Given the description of an element on the screen output the (x, y) to click on. 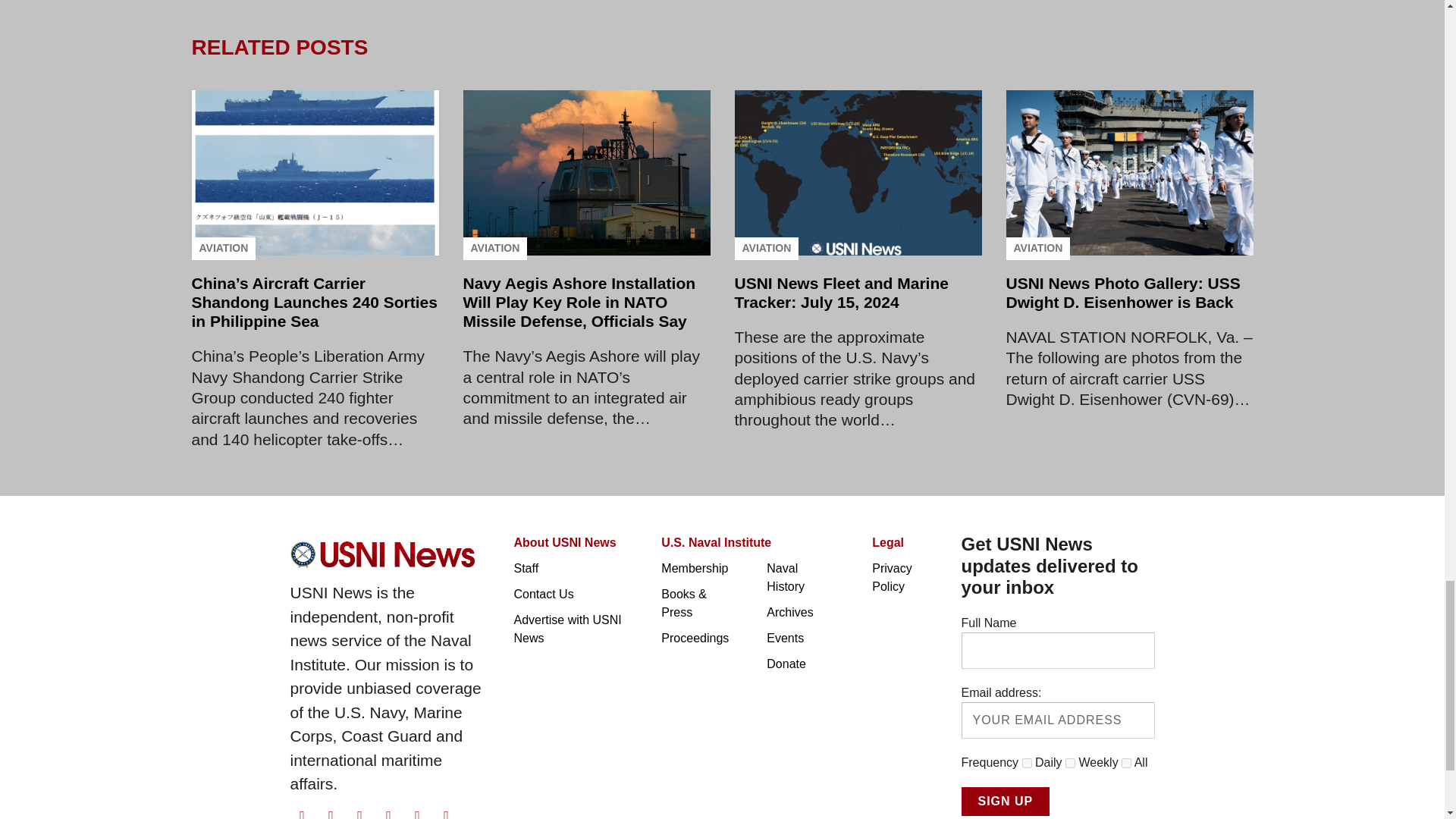
a4211728d9 (1126, 763)
Sign up (1004, 801)
bf28bbb352 (1070, 763)
1f9176d61b (1027, 763)
